Given the description of an element on the screen output the (x, y) to click on. 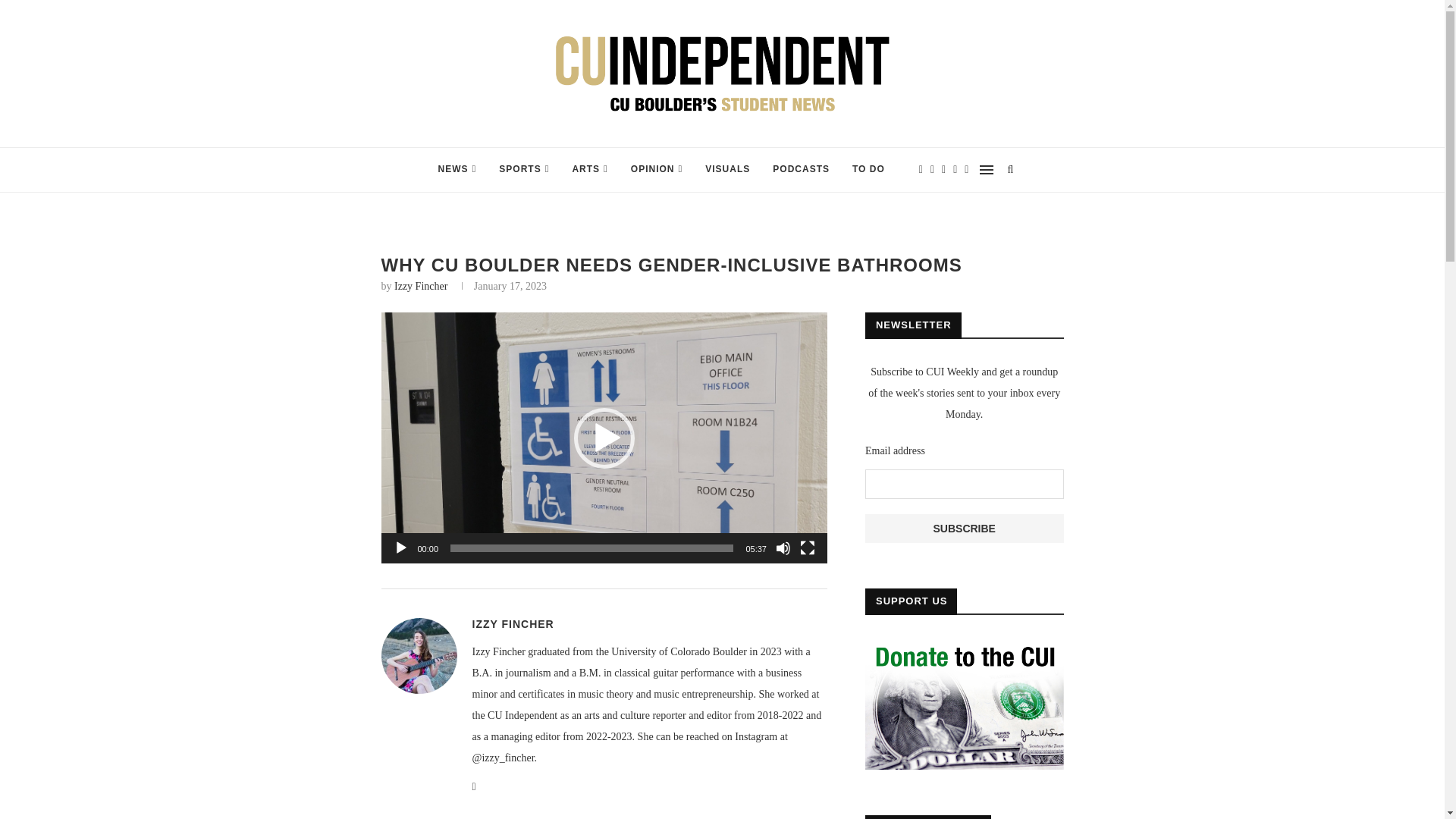
Posts by Izzy Fincher (512, 623)
Mute (783, 548)
Play (400, 548)
Fullscreen (807, 548)
Subscribe (964, 528)
